Given the description of an element on the screen output the (x, y) to click on. 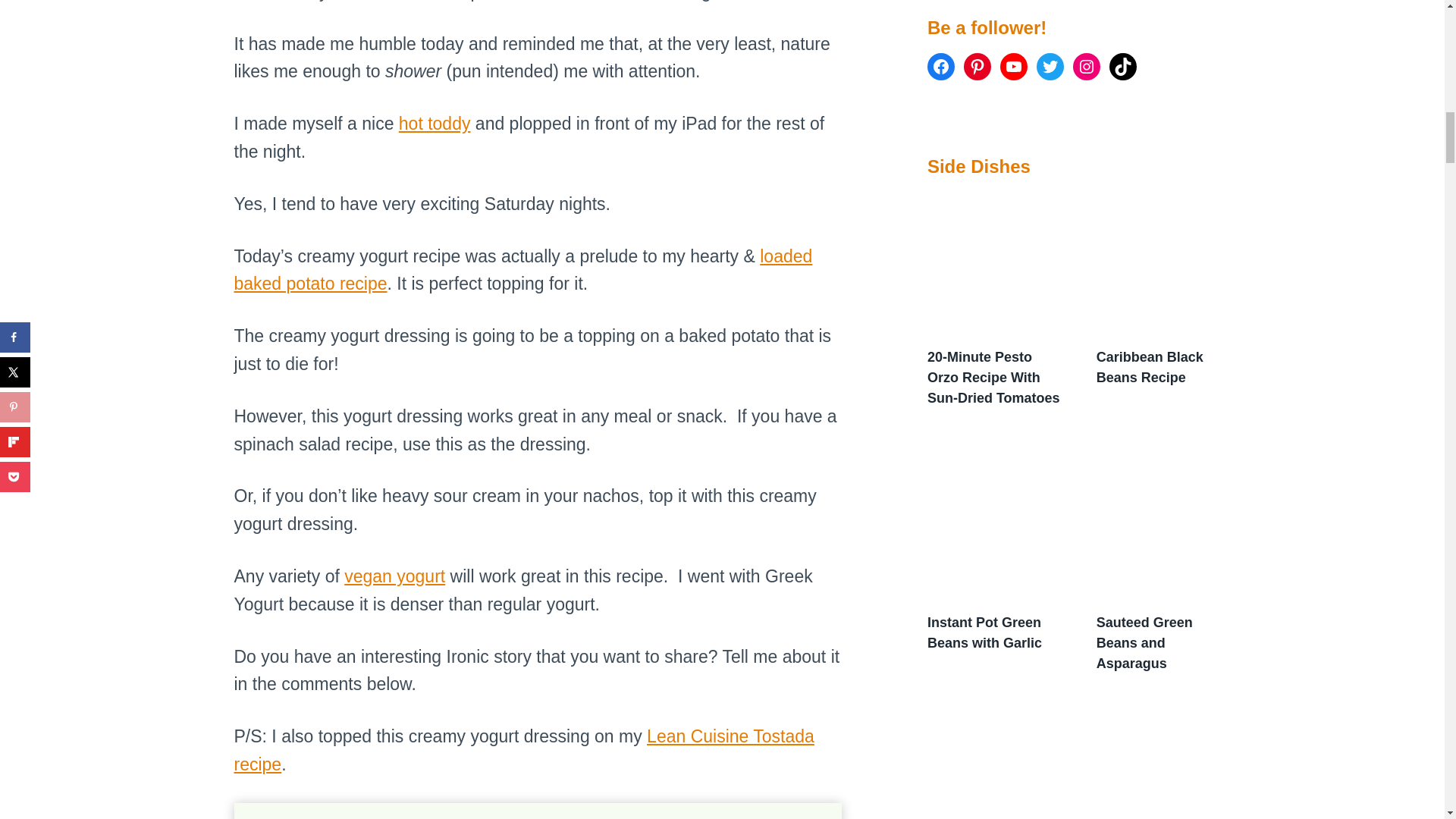
Hot Toddy Recipe (434, 123)
loaded baked potato recipe (522, 270)
vegan yogurt (394, 576)
hot toddy (434, 123)
Vegan Yogurt (394, 576)
Lean Cuisine Tostada recipe (522, 749)
